Given the description of an element on the screen output the (x, y) to click on. 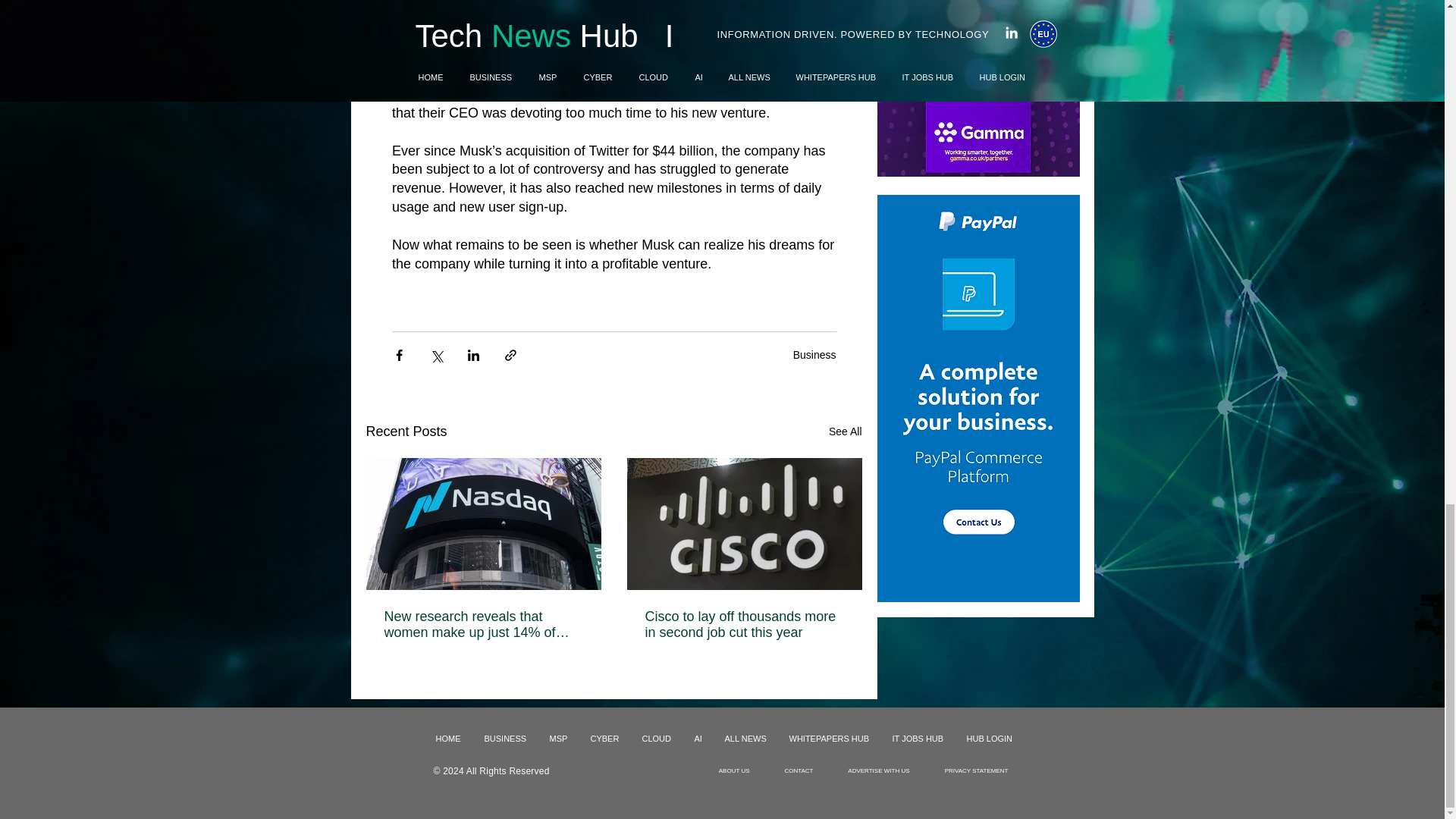
AI (697, 738)
MSP (558, 738)
BUSINESS (505, 738)
ALL NEWS (745, 738)
See All (844, 431)
CLOUD (656, 738)
CYBER (604, 738)
Cisco to lay off thousands more in second job cut this year (744, 624)
HOME (449, 738)
Business (814, 354)
